Given the description of an element on the screen output the (x, y) to click on. 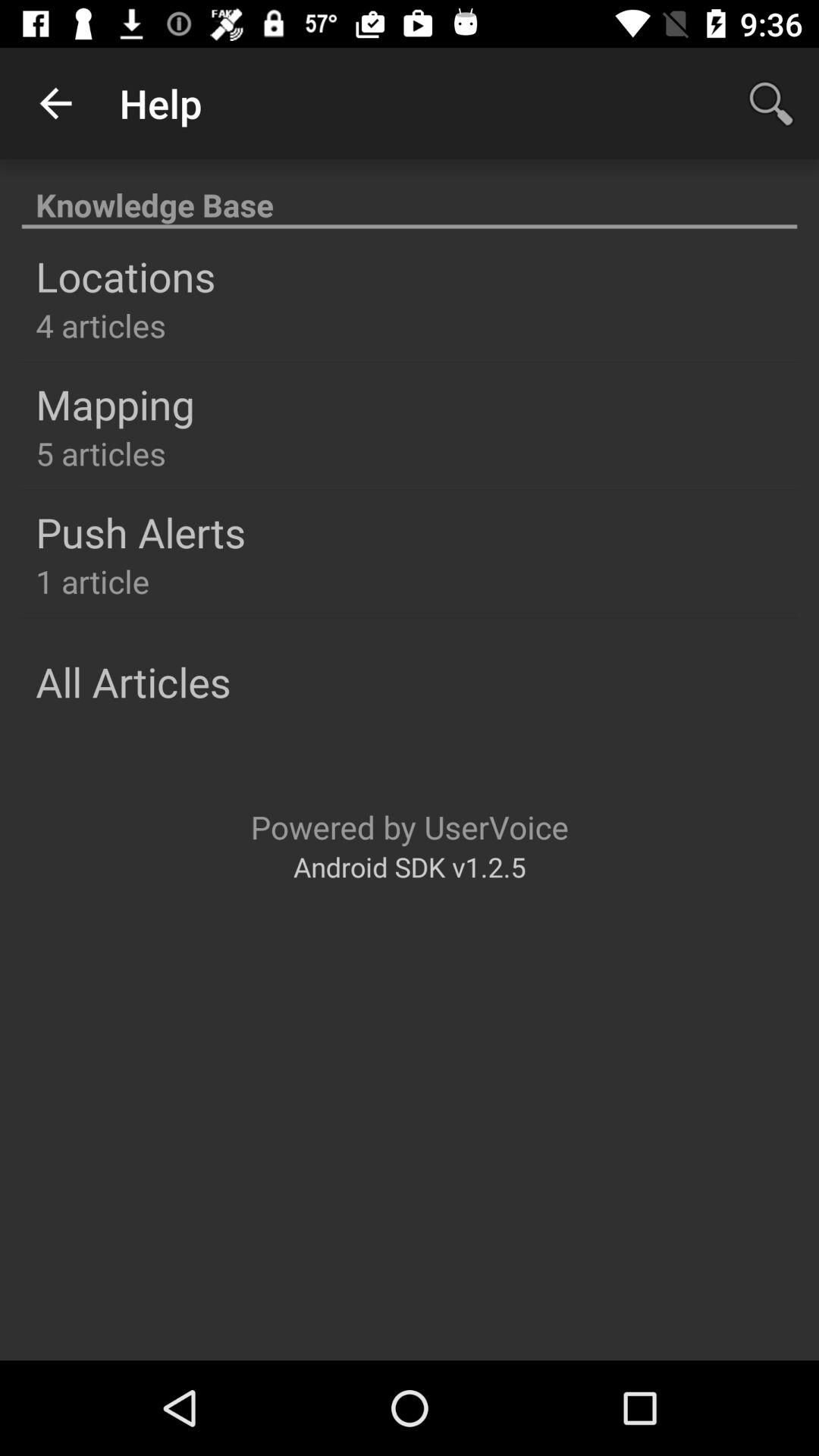
turn off item above knowledge base (55, 103)
